Given the description of an element on the screen output the (x, y) to click on. 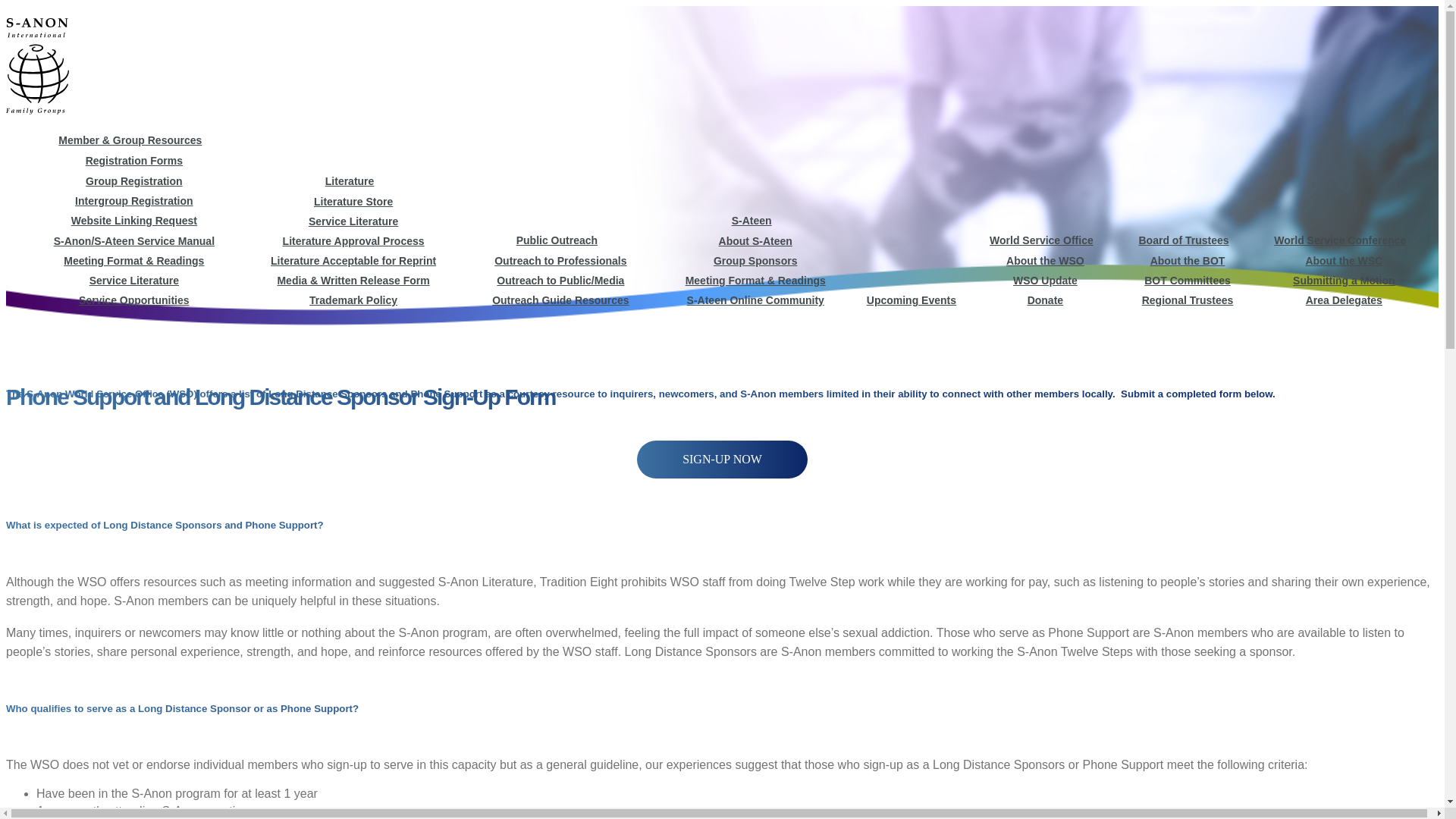
Trademark Policy (352, 300)
Intergroup Registration (134, 200)
WSO Update (1045, 280)
Submitting a Motion (1343, 280)
World Service Conference (1340, 240)
Literature (349, 181)
Public Outreach (556, 240)
Literature Approval Process (353, 241)
Website Linking Request (133, 220)
Literature Store (353, 201)
About S-Ateen (755, 241)
Registration Forms (134, 160)
Service Literature (133, 280)
World Service Office (1041, 240)
About the WSO (1045, 260)
